Given the description of an element on the screen output the (x, y) to click on. 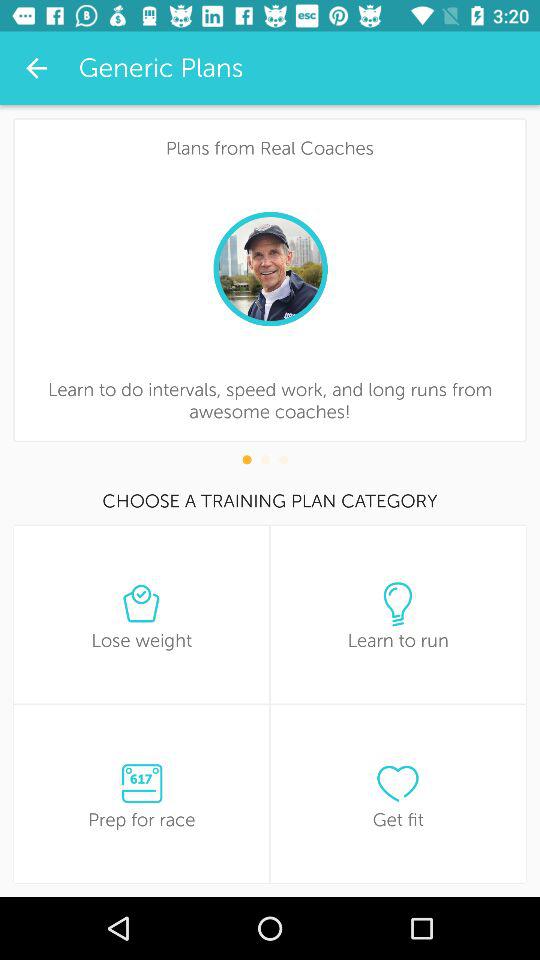
launch item to the left of the generic plans (36, 68)
